Given the description of an element on the screen output the (x, y) to click on. 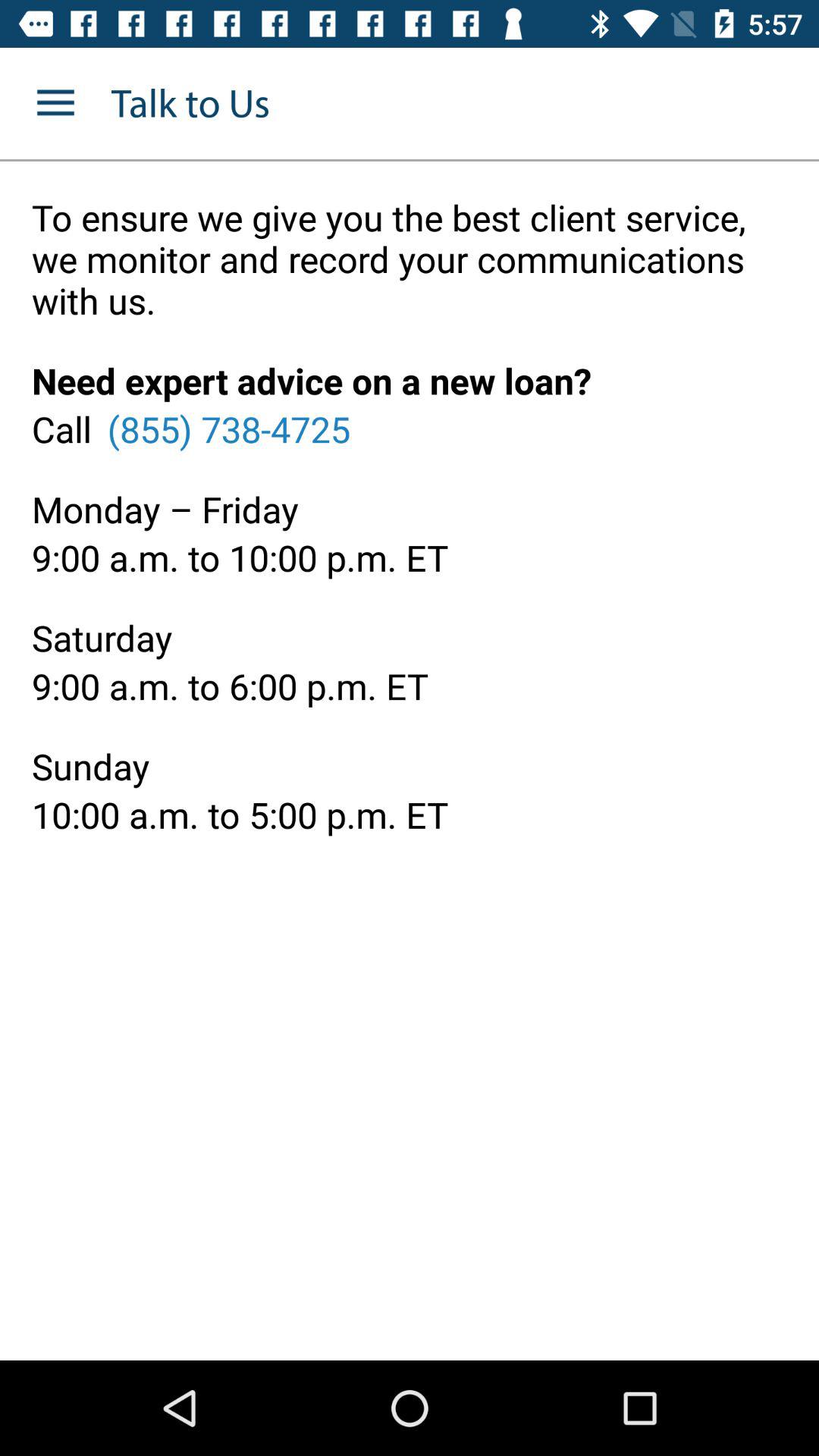
press icon next to the call (228, 428)
